Given the description of an element on the screen output the (x, y) to click on. 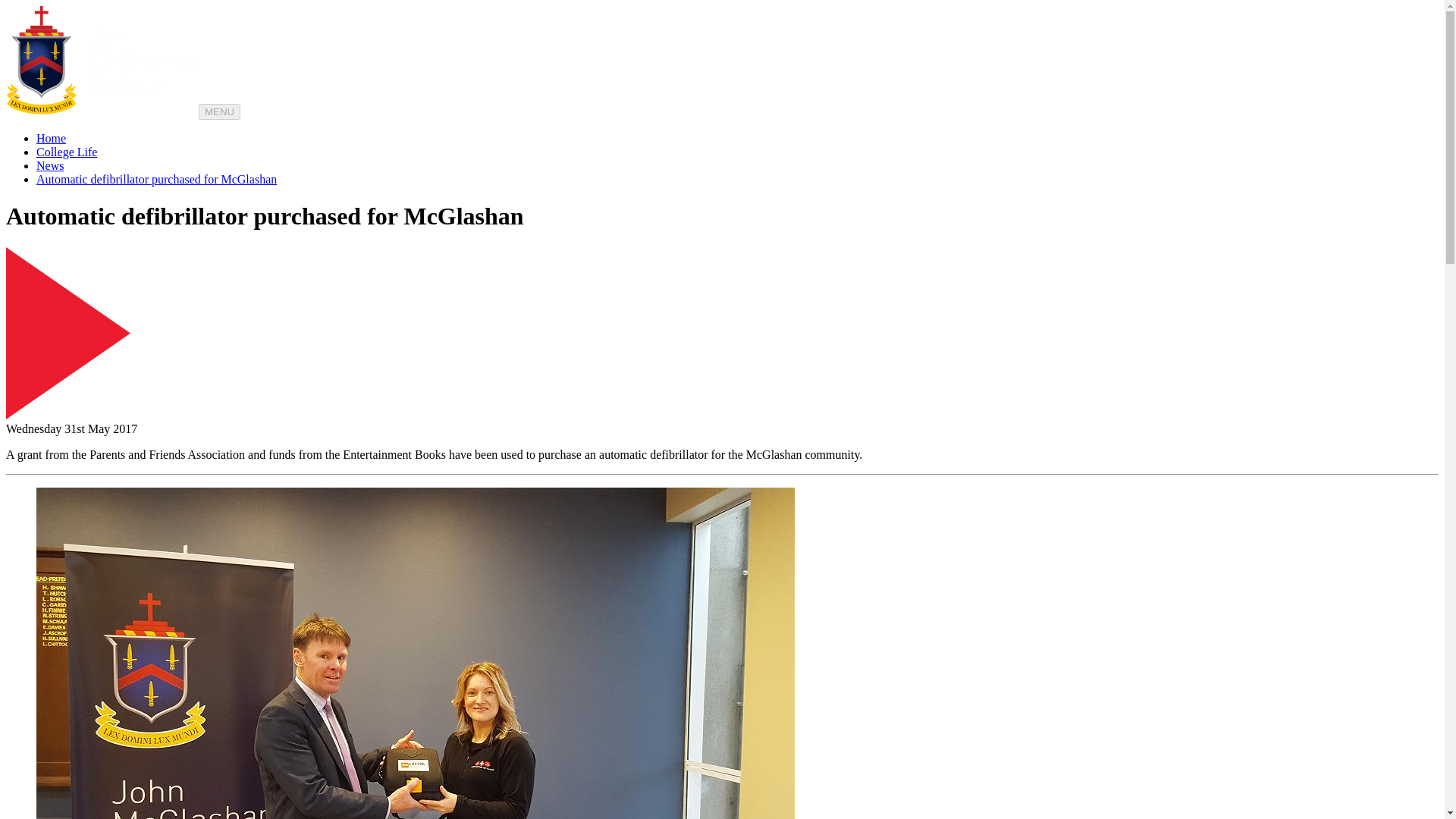
College Life (66, 151)
Home (50, 137)
MENU (219, 111)
Automatic defibrillator purchased for McGlashan (156, 178)
News (50, 164)
